Given the description of an element on the screen output the (x, y) to click on. 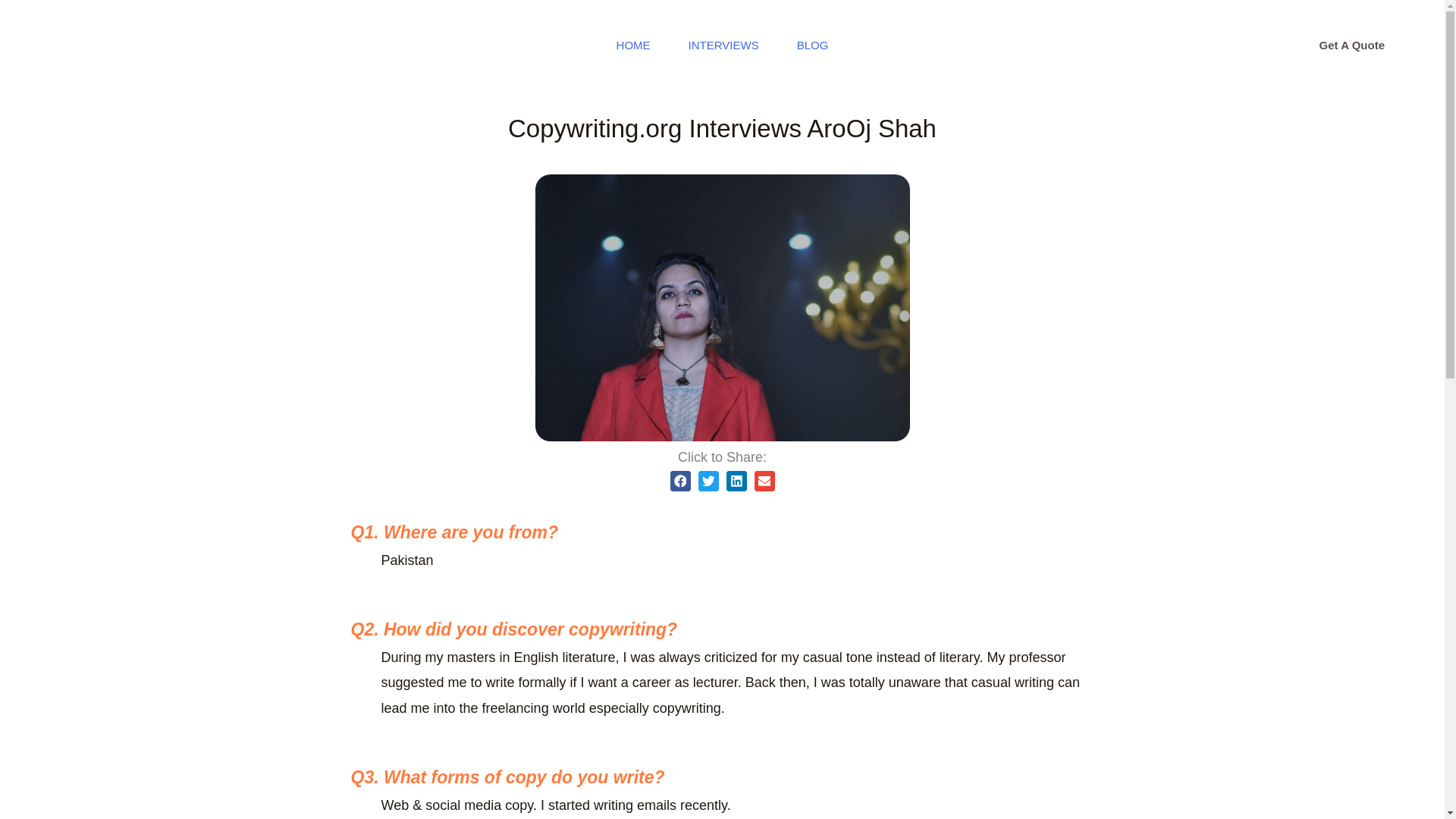
INTERVIEWS (723, 45)
Get A Quote (1352, 45)
